Given the description of an element on the screen output the (x, y) to click on. 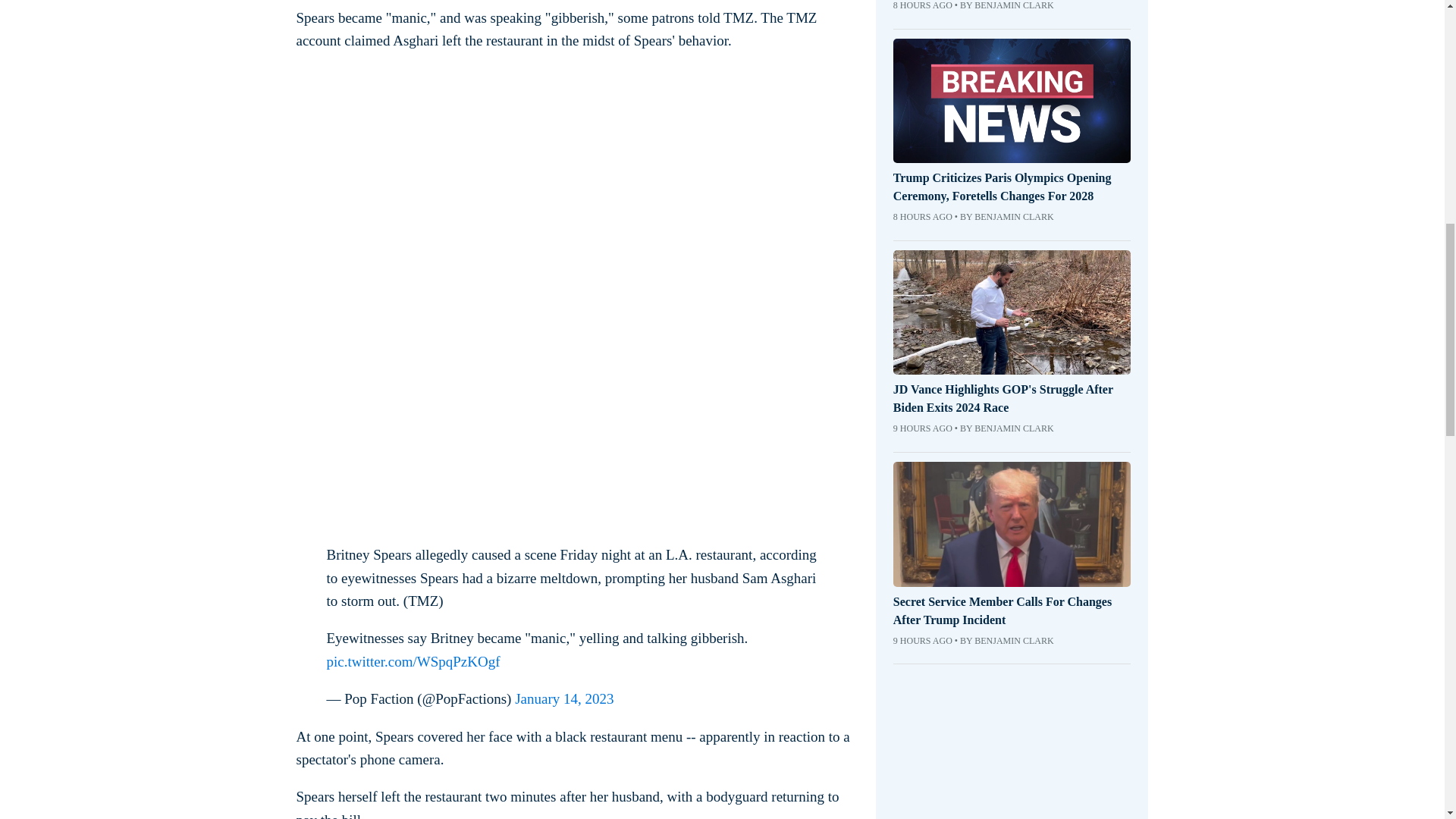
January 14, 2023 (563, 698)
